Given the description of an element on the screen output the (x, y) to click on. 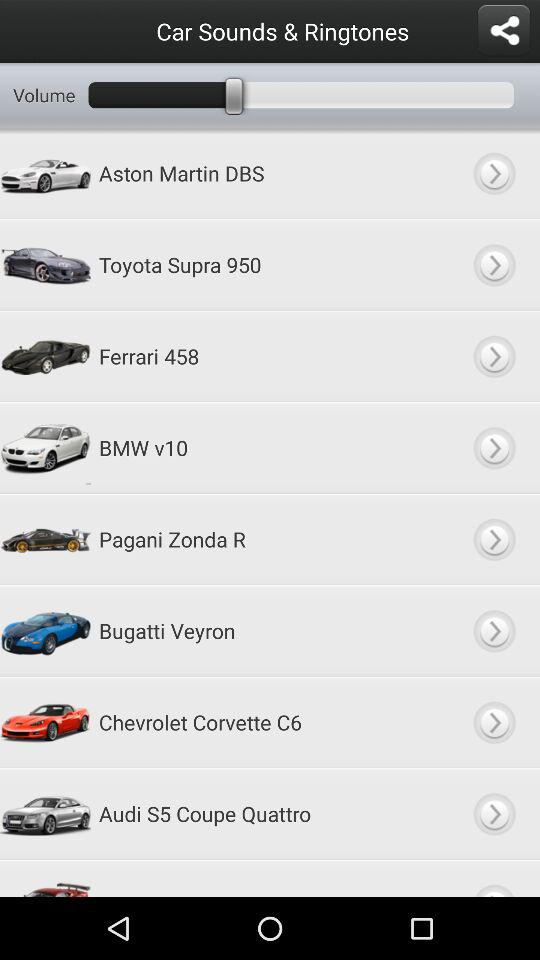
to go previous (494, 630)
